Given the description of an element on the screen output the (x, y) to click on. 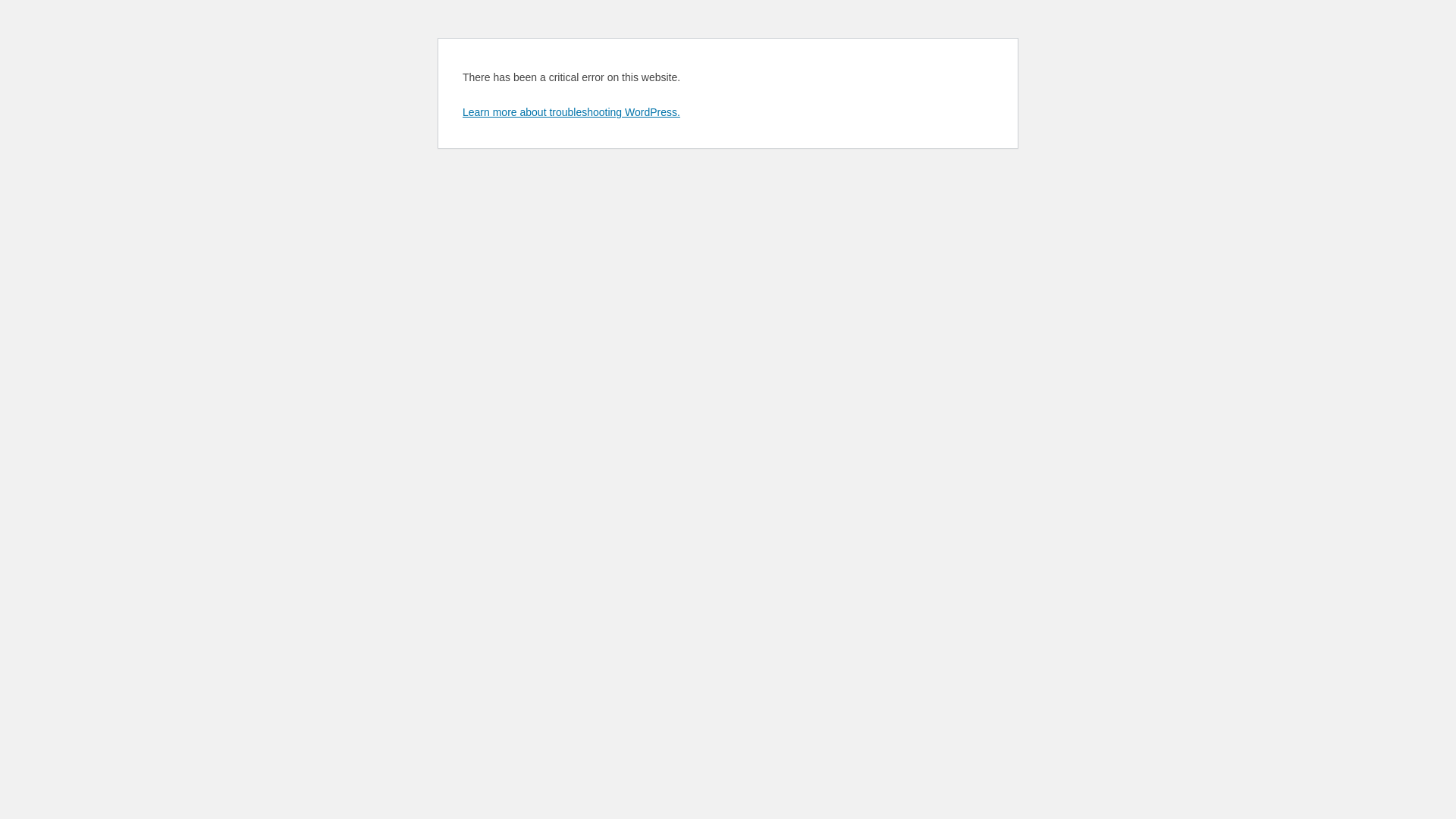
Learn more about troubleshooting WordPress. Element type: text (571, 112)
